Given the description of an element on the screen output the (x, y) to click on. 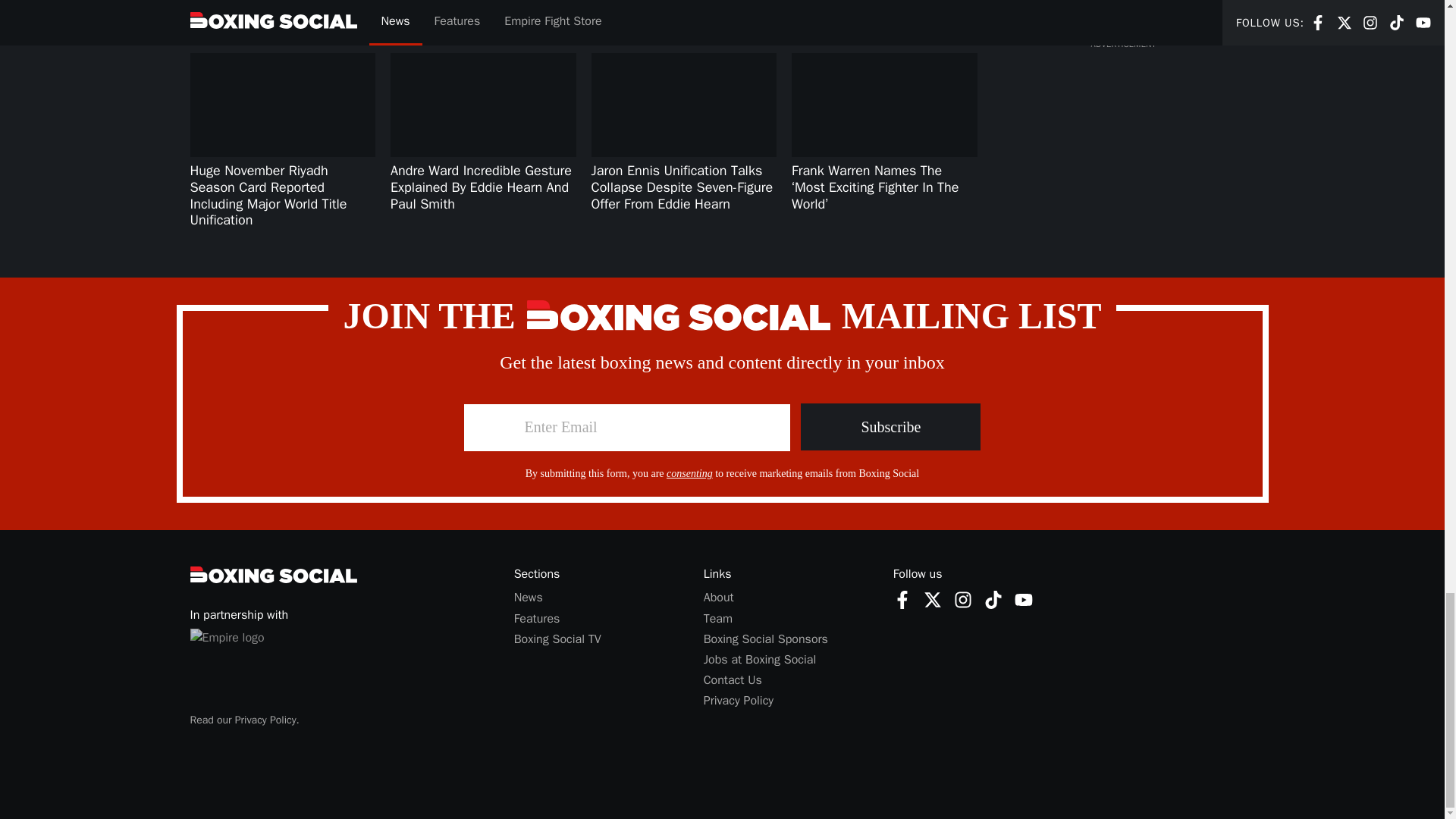
Features (536, 618)
Team (717, 618)
Contact Us (732, 679)
Instagram (962, 599)
TikTok (993, 599)
YouTube (993, 598)
